Given the description of an element on the screen output the (x, y) to click on. 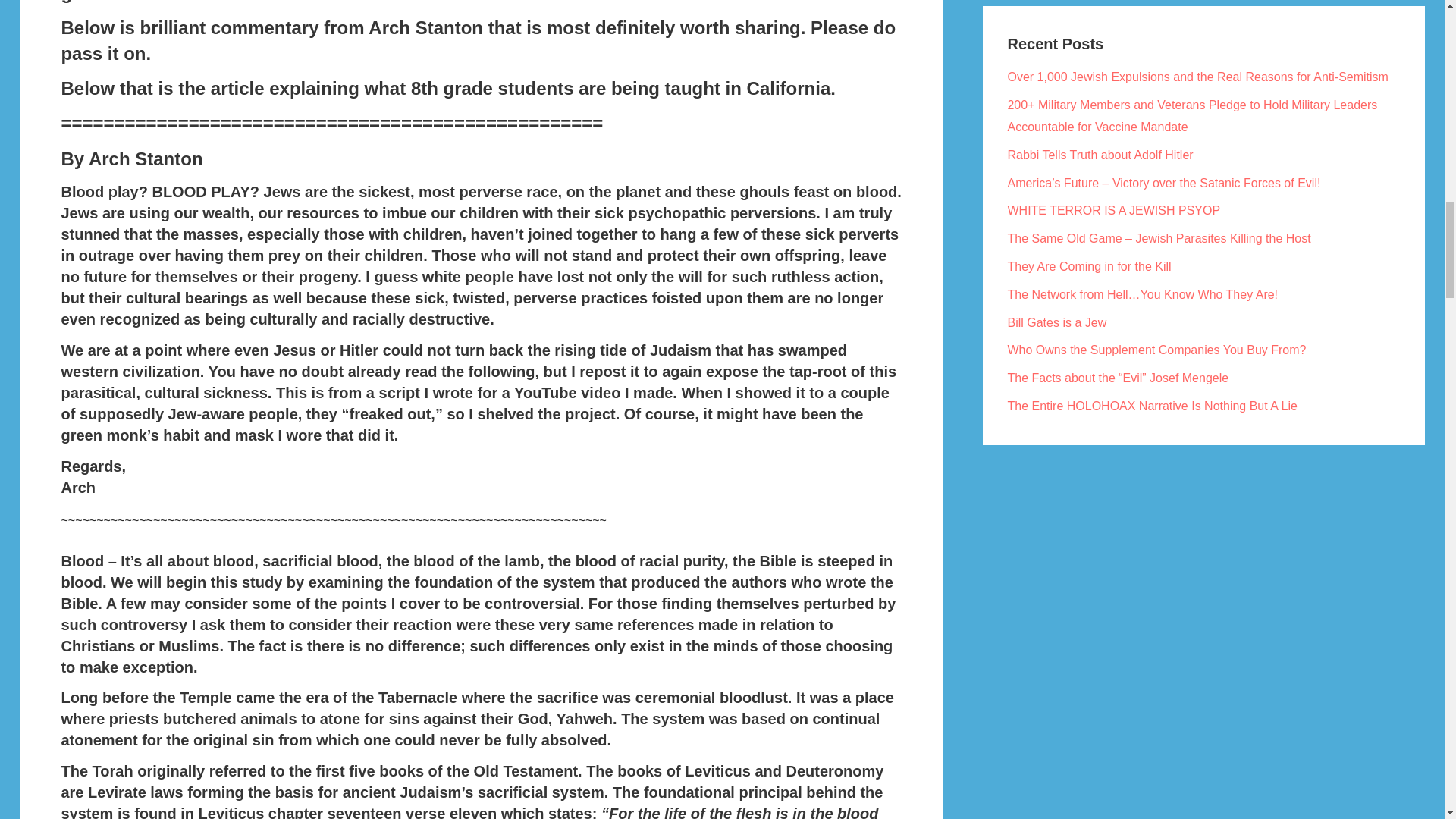
Rabbi Tells Truth about Adolf Hitler (1099, 154)
WHITE TERROR IS A JEWISH PSYOP (1113, 210)
